Given the description of an element on the screen output the (x, y) to click on. 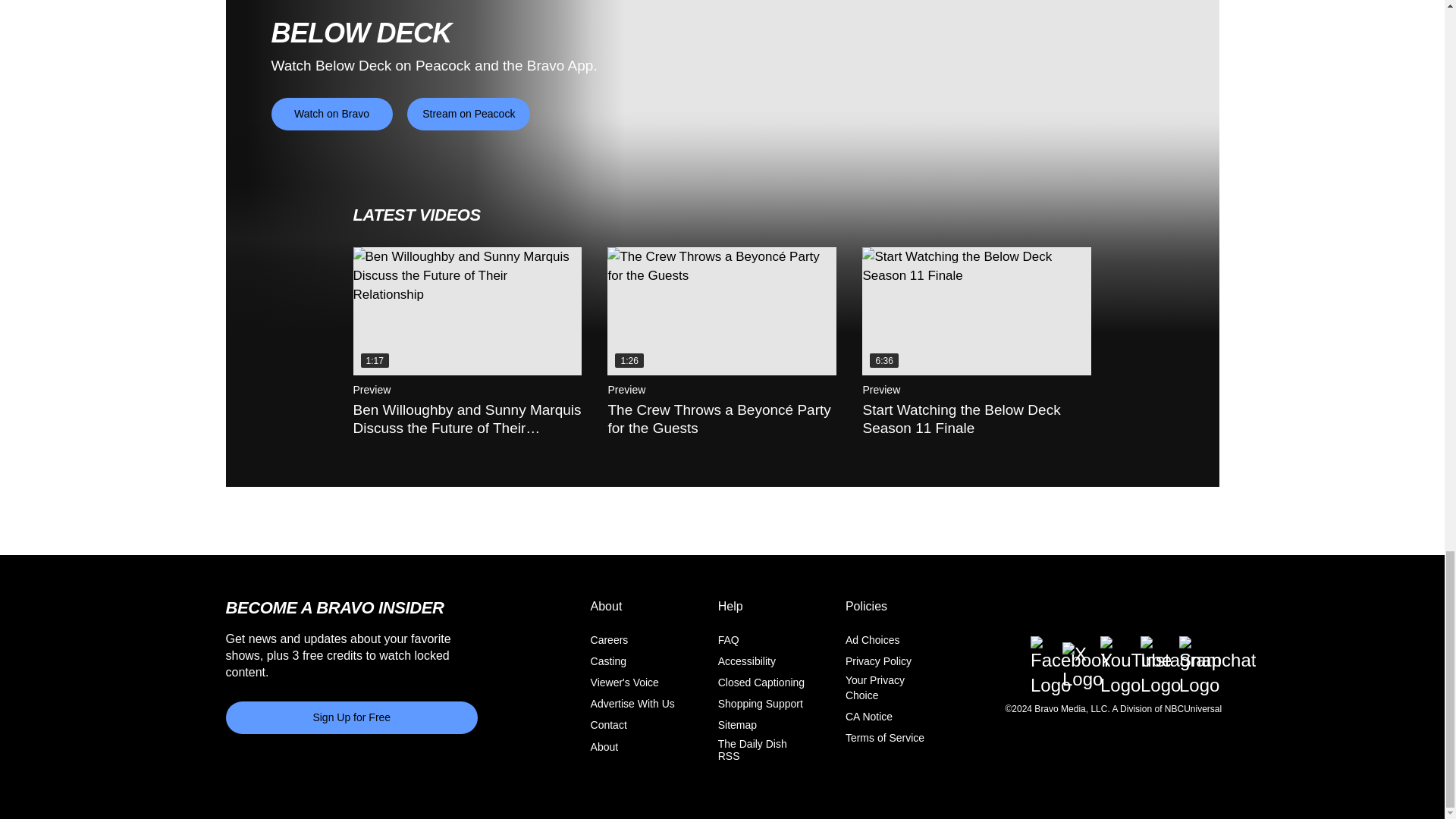
Start Watching the Below Deck Season 11 Finale (975, 311)
Advertise With Us (633, 704)
